Given the description of an element on the screen output the (x, y) to click on. 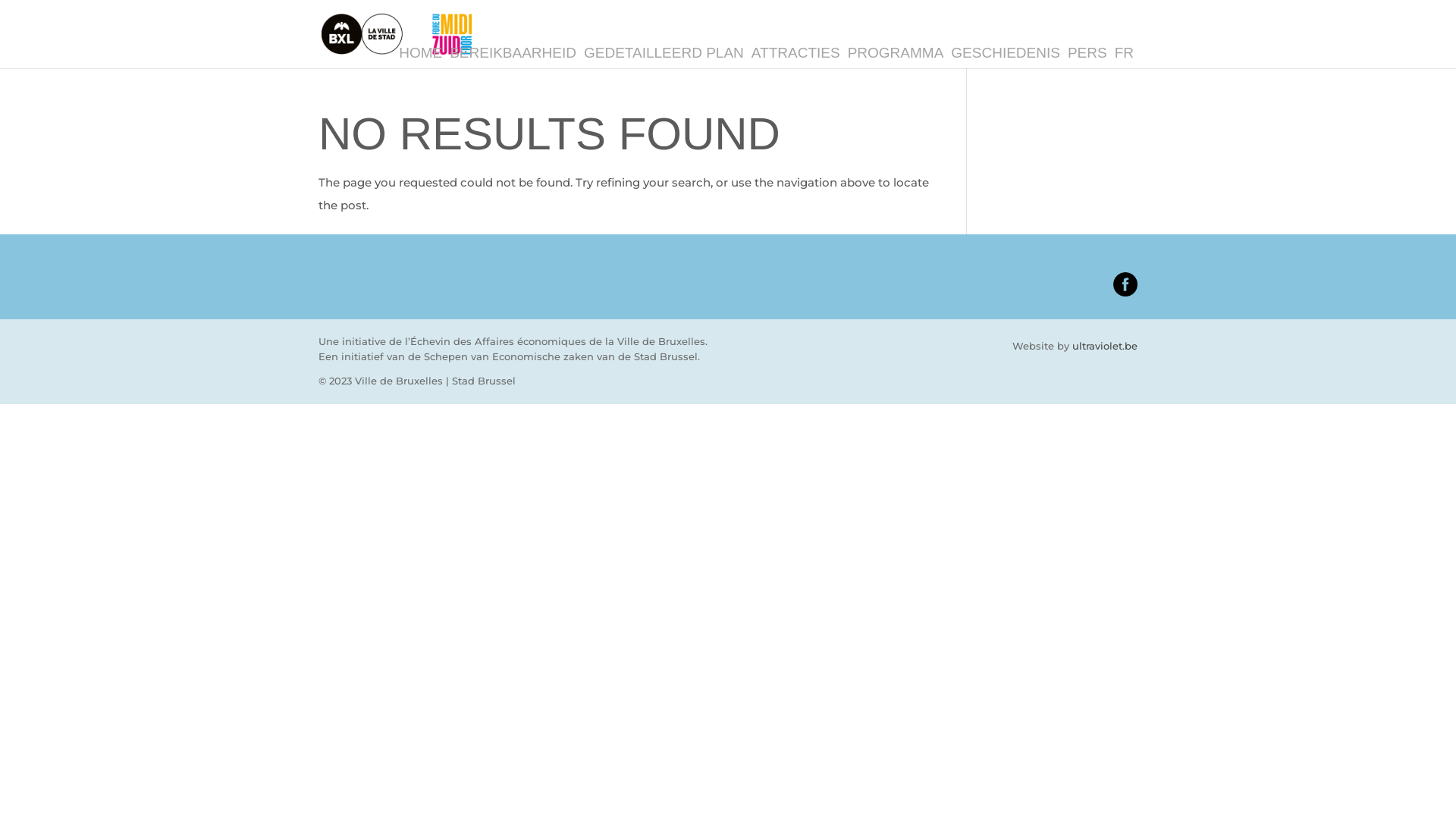
PROGRAMMA Element type: text (895, 52)
GESCHIEDENIS Element type: text (1005, 52)
BEREIKBAARHEID Element type: text (512, 52)
FR Element type: text (1123, 52)
ultraviolet.be Element type: text (1104, 345)
HOME Element type: text (420, 52)
PERS Element type: text (1086, 52)
ATTRACTIES Element type: text (795, 52)
GEDETAILLEERD PLAN Element type: text (663, 52)
